Given the description of an element on the screen output the (x, y) to click on. 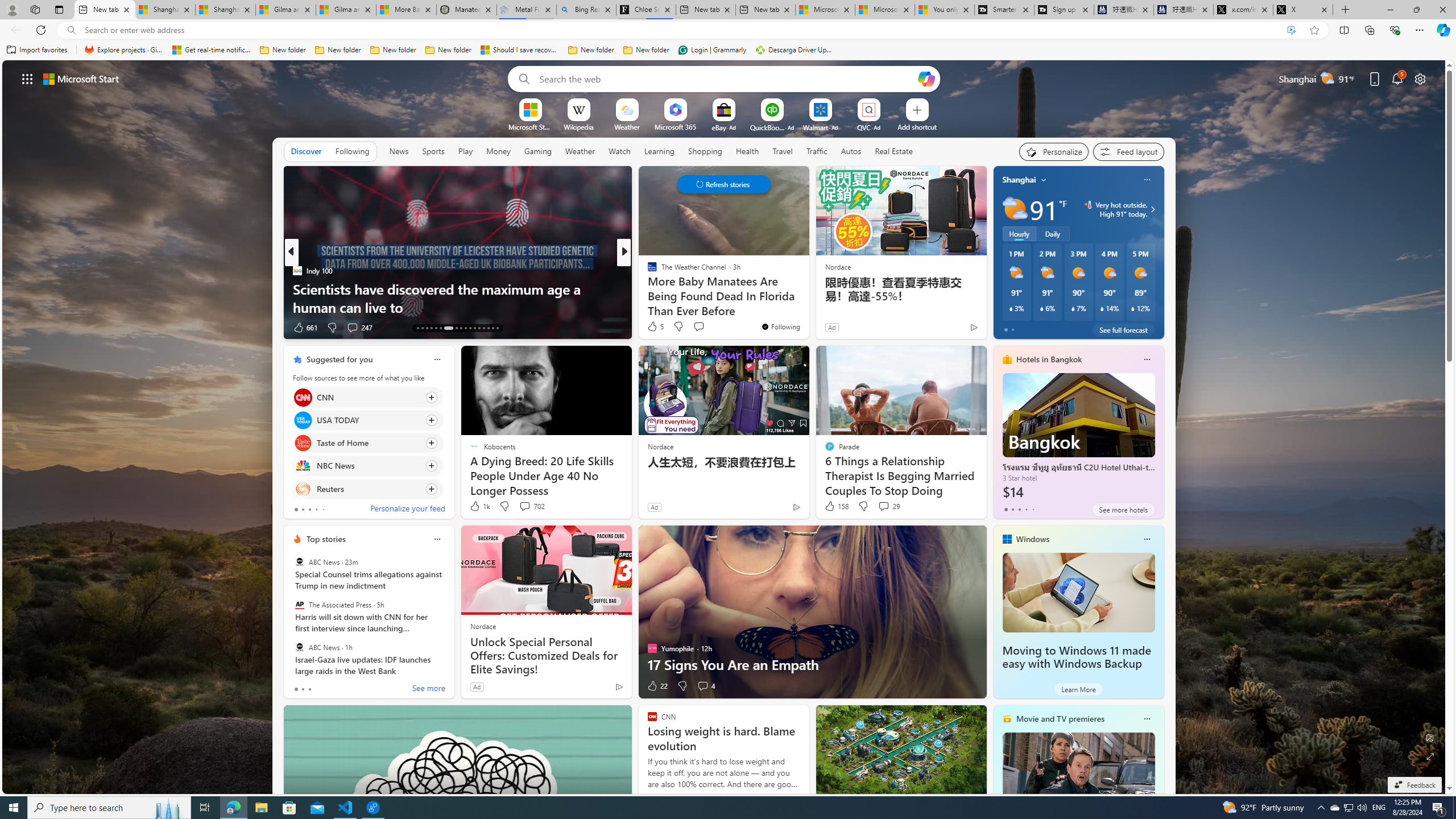
SlashGear (647, 270)
View comments 702 Comment (523, 505)
AutomationID: tab-41 (492, 328)
AutomationID: tab-15 (426, 328)
Weather (579, 151)
Microsoft 365 (675, 126)
View comments 19 Comment (703, 327)
View comments 29 Comment (883, 505)
Click to follow source Reuters (367, 488)
Chloe Sorvino (646, 9)
Gaming (537, 151)
Learning (659, 151)
